Given the description of an element on the screen output the (x, y) to click on. 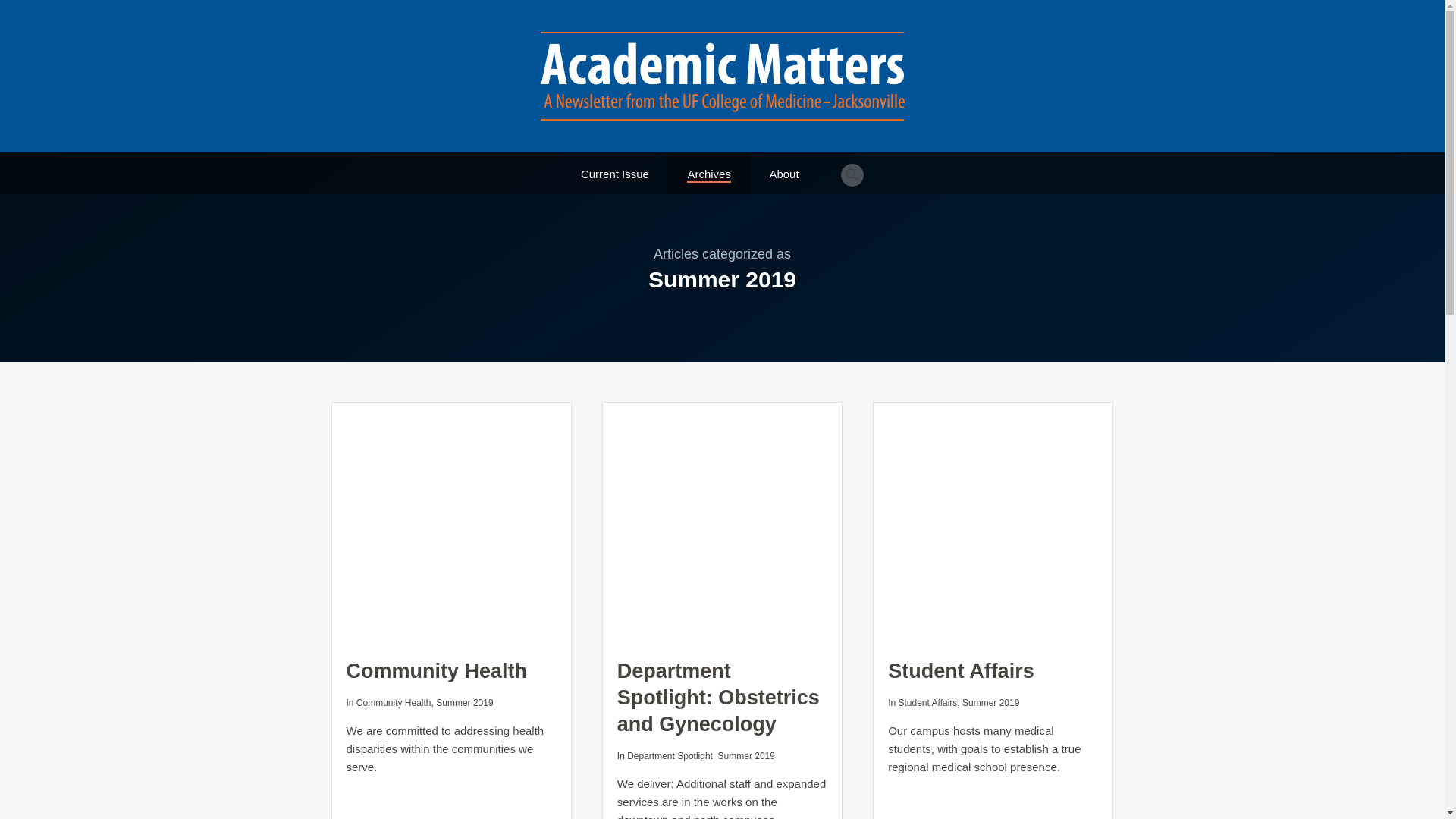
Unrecognizable medical student writes in class workbook (992, 522)
Current Issue (614, 166)
Academic Matters - Home (722, 75)
OBGYN cover pic2 (722, 522)
Community cover pic (450, 522)
Archives (708, 166)
About (782, 166)
